Given the description of an element on the screen output the (x, y) to click on. 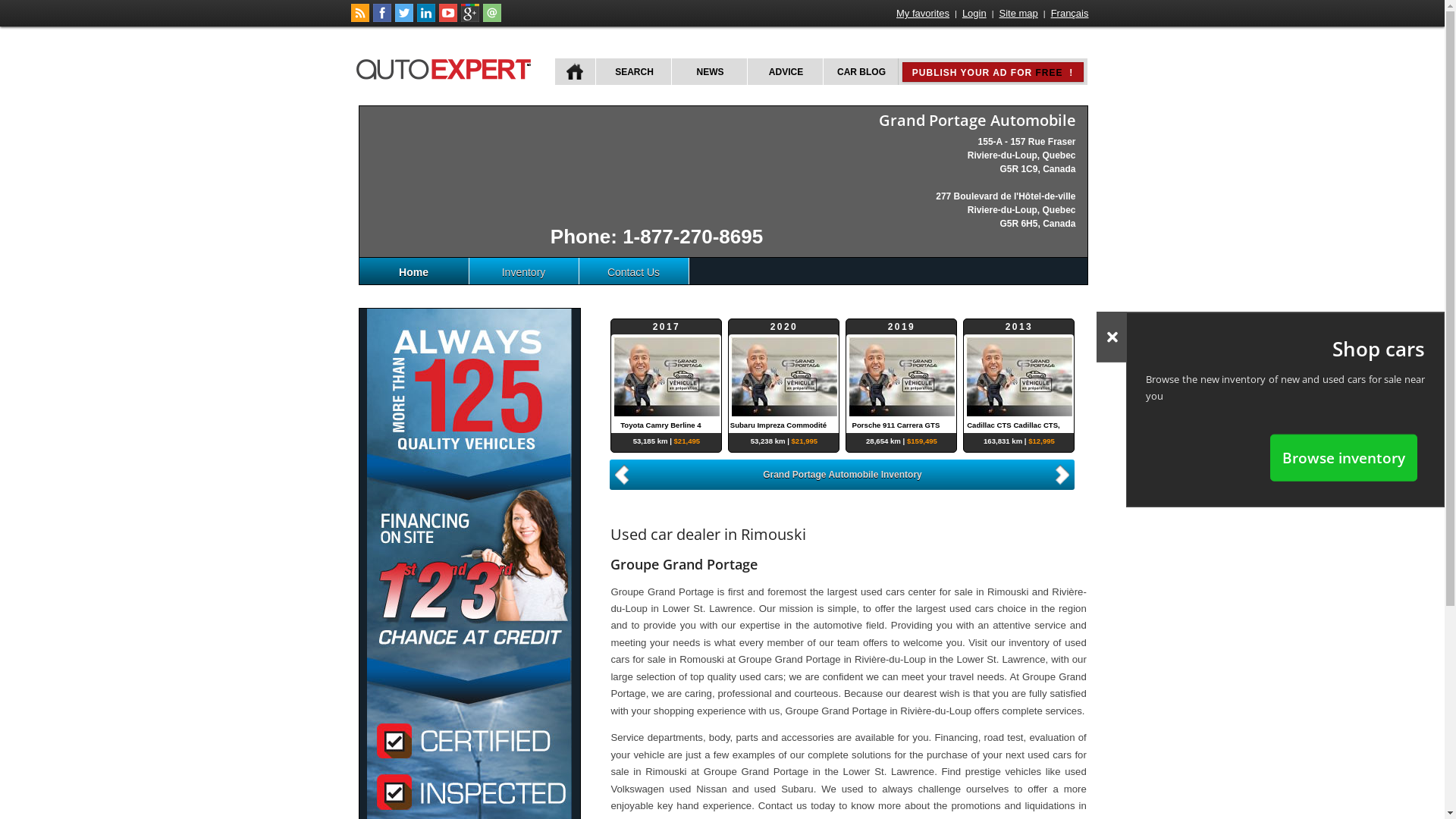
Next Element type: hover (1064, 473)
CAR BLOG Element type: text (859, 71)
Browse inventory Element type: text (1343, 457)
Previous Element type: hover (620, 474)
NEWS Element type: text (708, 71)
Follow Publications Le Guide Inc. on LinkedIn Element type: hover (426, 18)
autoExpert.ca Element type: text (446, 66)
Contact Us Element type: text (634, 270)
Login Element type: text (974, 13)
Home Element type: text (414, 270)
PUBLISH YOUR AD FOR FREE  ! Element type: text (992, 71)
Follow car news on autoExpert.ca Element type: hover (359, 18)
ADVICE Element type: text (784, 71)
Follow autoExpert.ca on Google Plus Element type: hover (470, 18)
Inventory Element type: text (523, 270)
SEARCH Element type: text (632, 71)
HOME Element type: text (575, 71)
My favorites Element type: text (922, 13)
Contact autoExpert.ca Element type: hover (491, 18)
Follow autoExpert.ca on Facebook Element type: hover (382, 18)
Follow autoExpert.ca on Youtube Element type: hover (447, 18)
Site map Element type: text (1018, 13)
Follow autoExpert.ca on Twitter Element type: hover (403, 18)
